Given the description of an element on the screen output the (x, y) to click on. 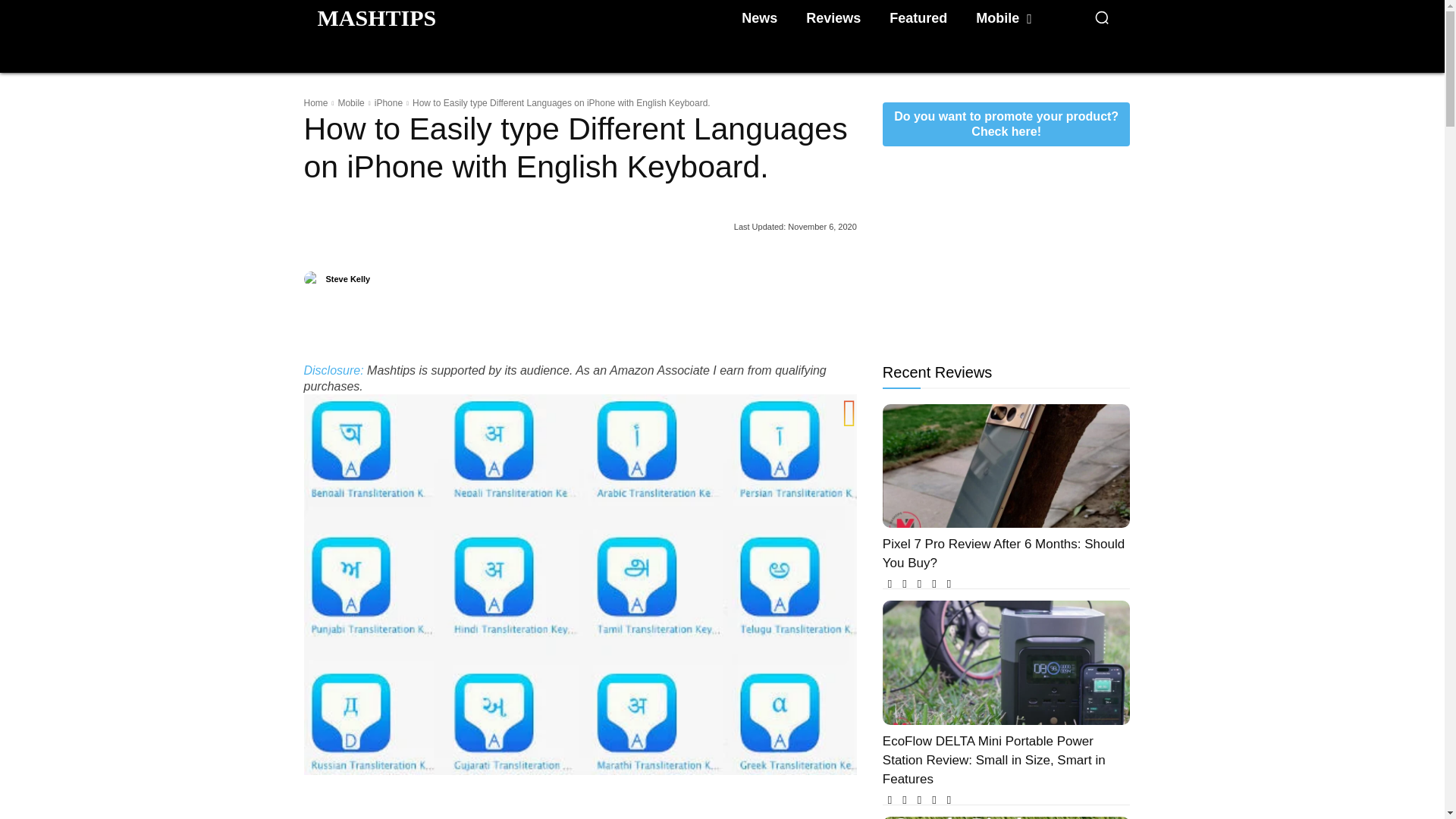
Home (314, 102)
iPhone (388, 102)
Steve Kelly (348, 278)
Steve Kelly (312, 278)
Mobile (1003, 18)
Reviews (832, 18)
MASHTIPS (376, 17)
View all posts in iPhone (388, 102)
MASHTIPS (376, 17)
Mobile (350, 102)
Featured (918, 18)
View all posts in Mobile (350, 102)
News (758, 18)
